Given the description of an element on the screen output the (x, y) to click on. 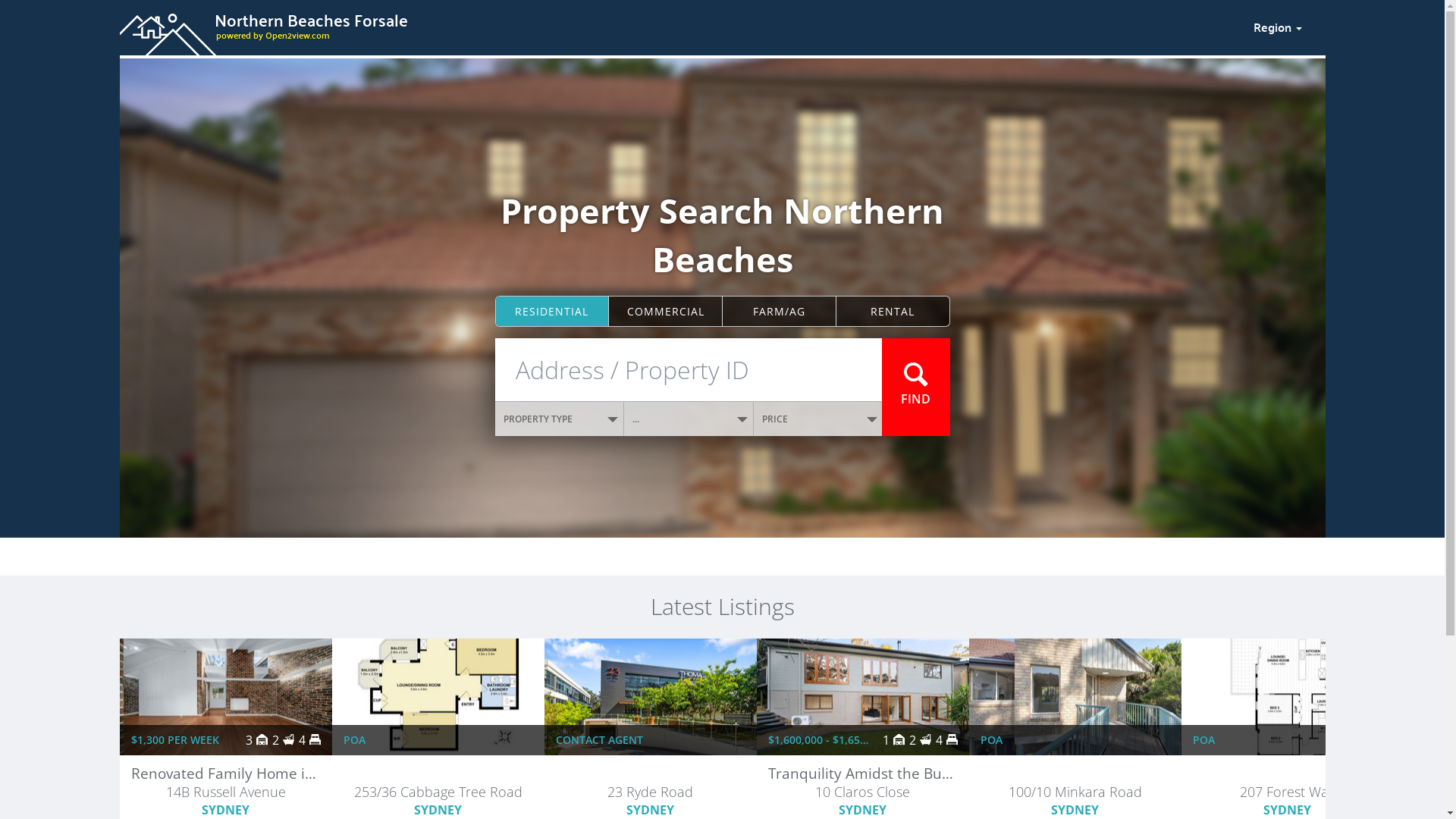
Property #851140 Element type: hover (437, 775)
Property #840090 Element type: hover (1074, 775)
Property #844631 Element type: hover (649, 775)
Northern Beaches Forsale
powered by Open2view.com Element type: text (676, 25)
Property #840089 Element type: hover (1286, 775)
PROPERTY TYPE Element type: text (559, 418)
... Element type: text (688, 418)
PRICE Element type: text (817, 418)
